Given the description of an element on the screen output the (x, y) to click on. 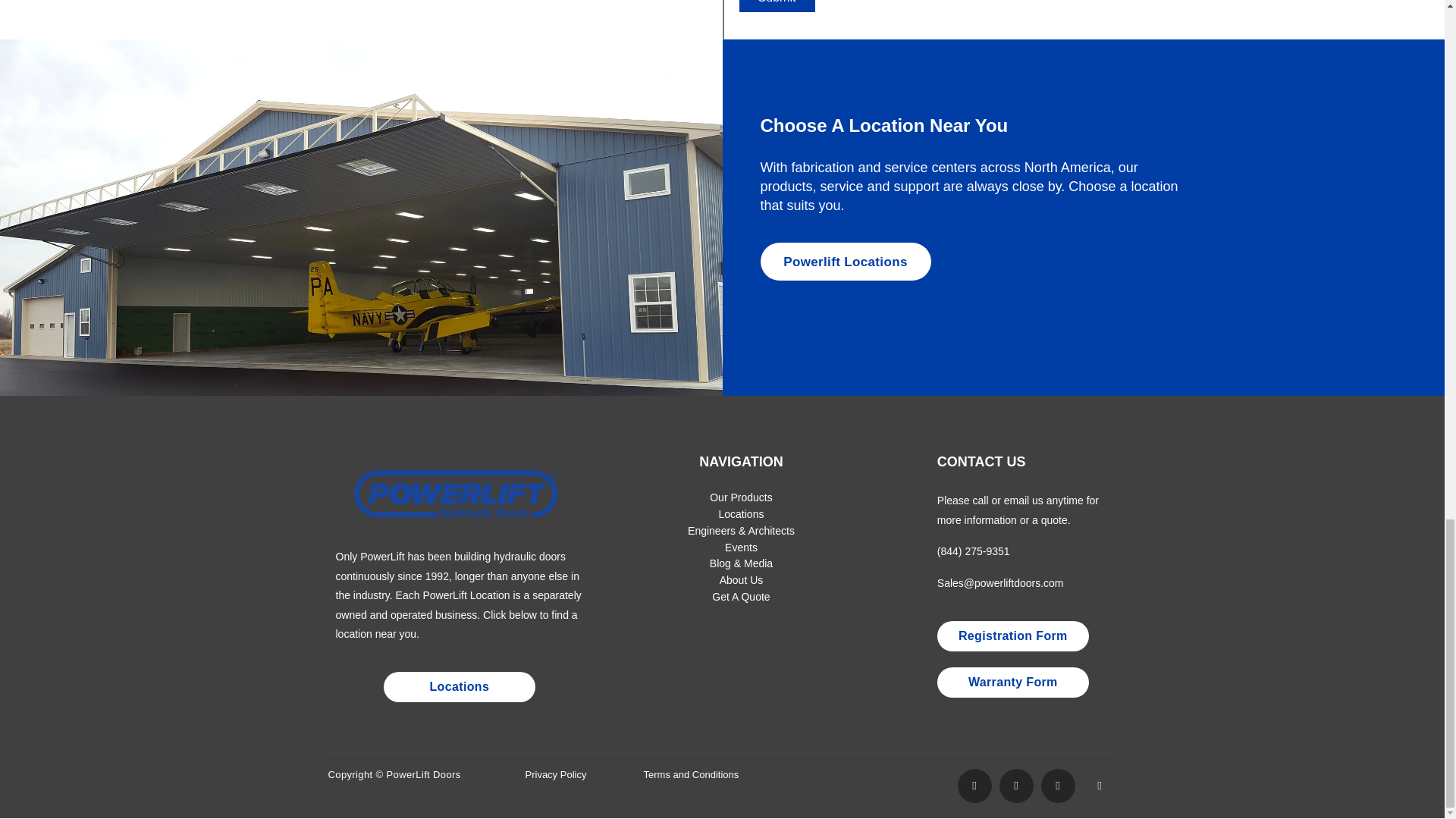
Submit (775, 6)
Submit (775, 6)
